Given the description of an element on the screen output the (x, y) to click on. 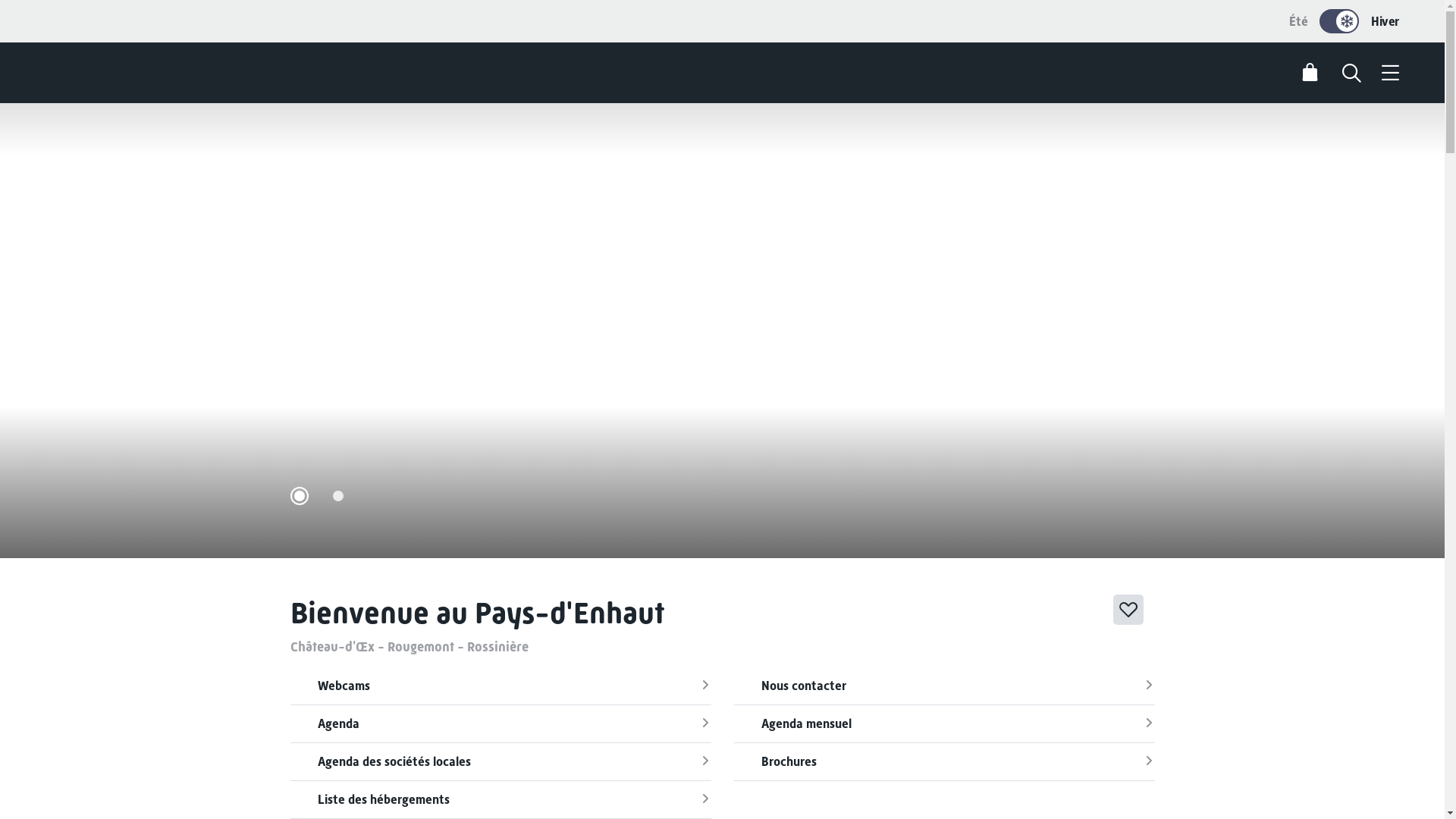
Webcams Element type: text (499, 686)
Panier Element type: hover (1309, 72)
Nous contacter Element type: text (944, 686)
Agenda mensuel Element type: text (944, 724)
Agenda Element type: text (499, 724)
Brochures Element type: text (944, 762)
